Given the description of an element on the screen output the (x, y) to click on. 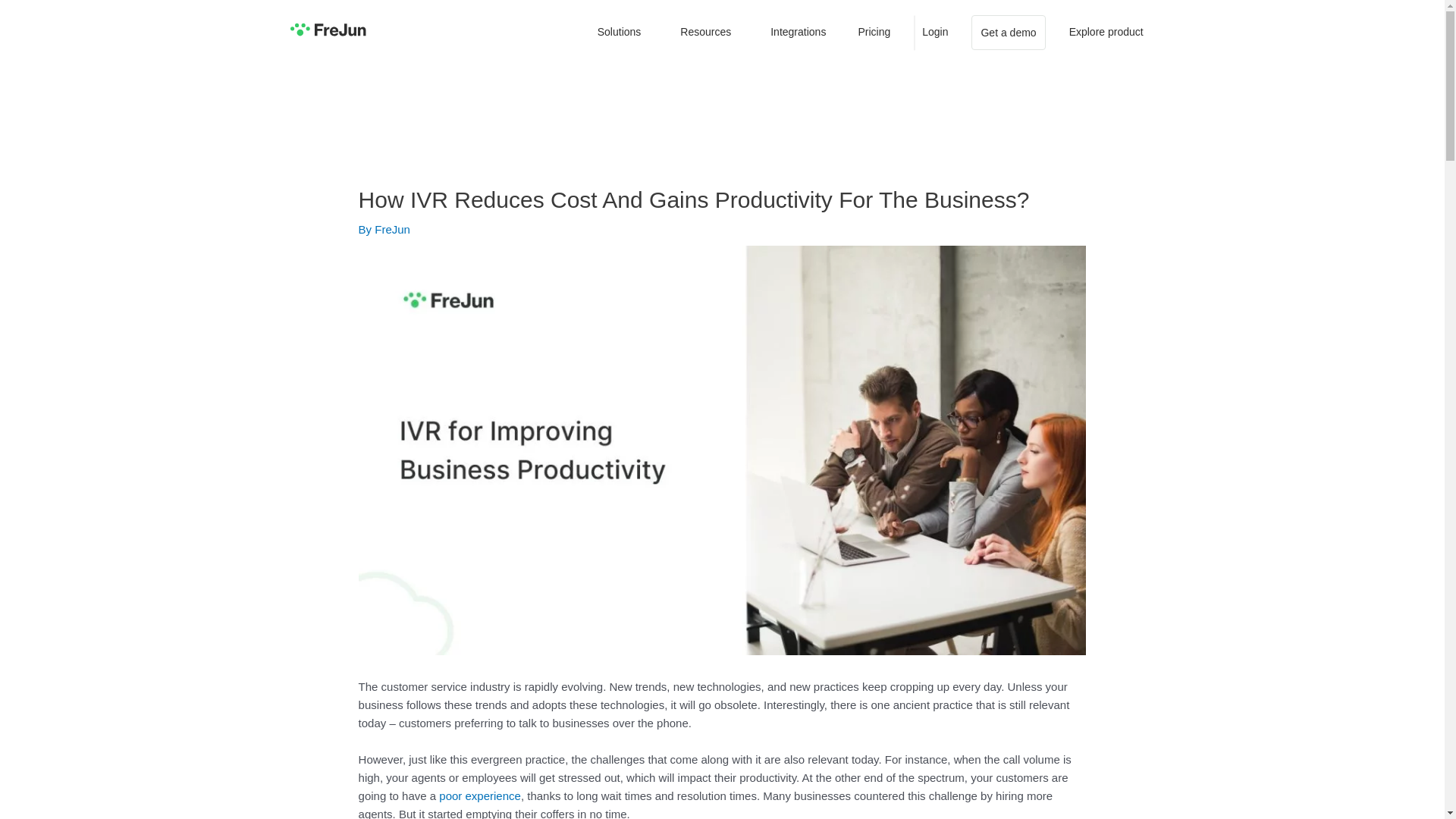
Explore product (1106, 31)
Resources (708, 31)
poor experience (480, 795)
Login (935, 31)
Pricing (873, 31)
Solutions (623, 31)
Get a demo (1008, 32)
View all posts by FreJun (392, 228)
FreJun (392, 228)
Integrations (797, 31)
